Given the description of an element on the screen output the (x, y) to click on. 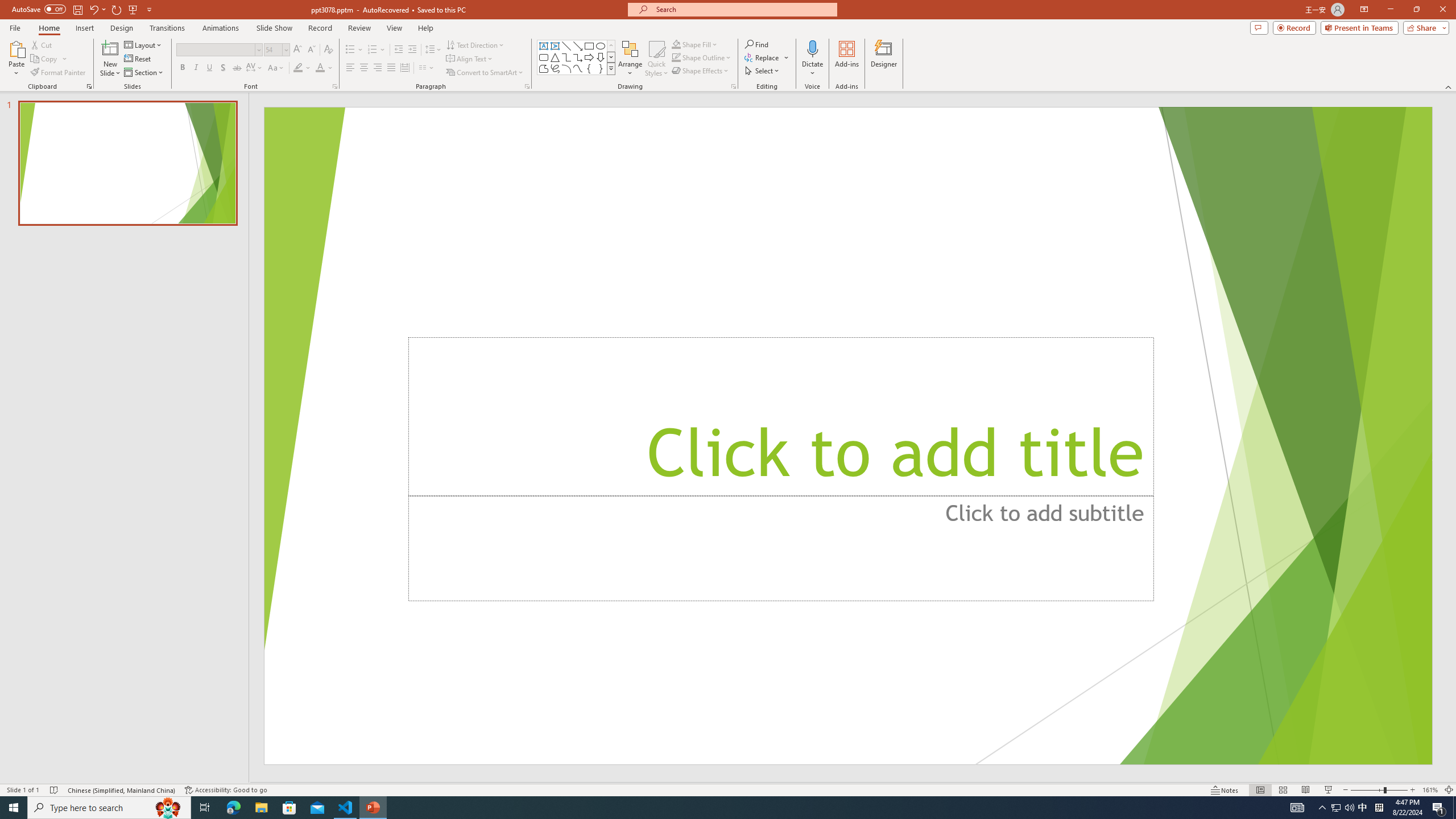
Zoom 161% (1430, 790)
